Given the description of an element on the screen output the (x, y) to click on. 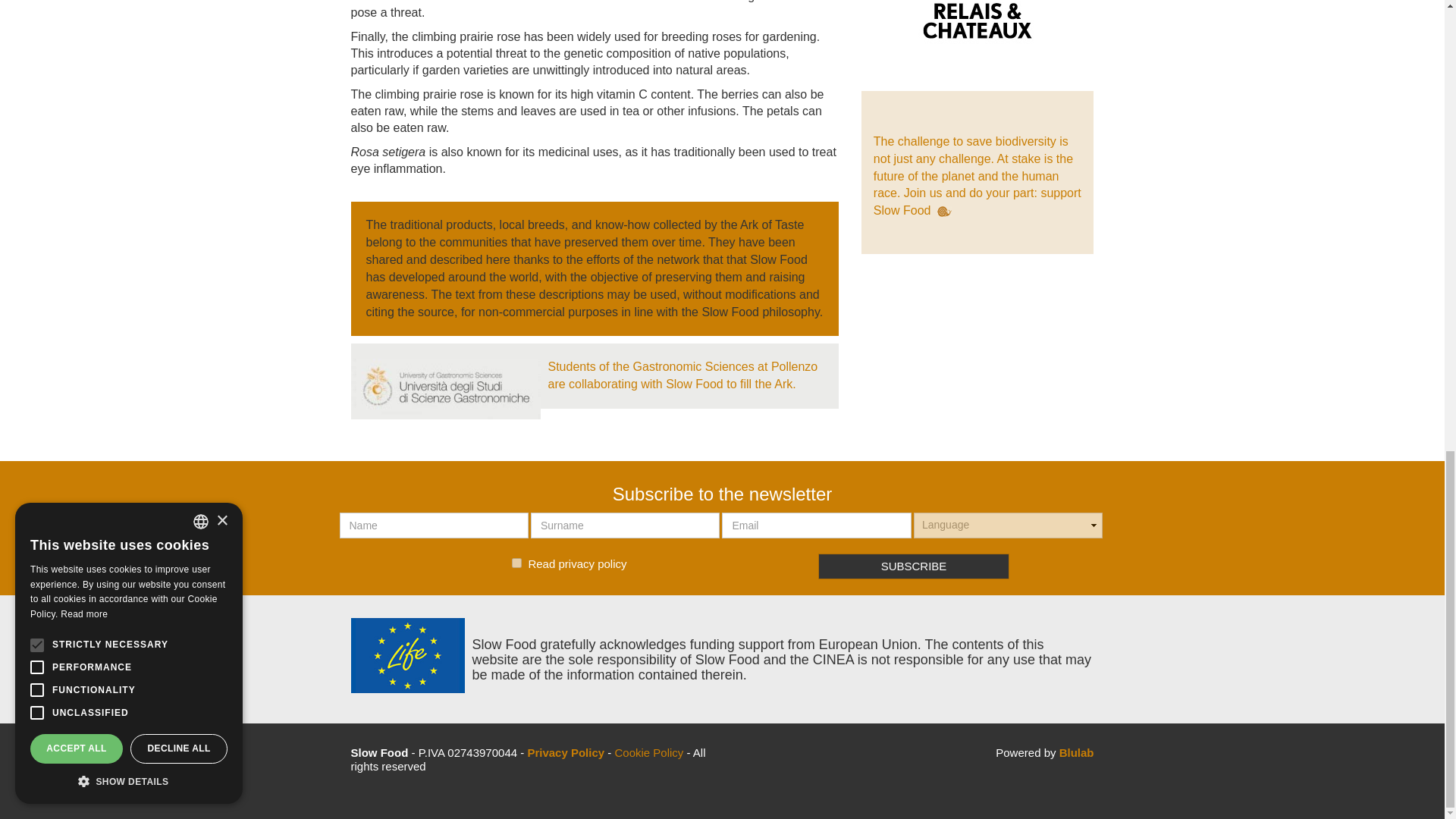
Subscribe (914, 566)
Slow Food - Web Agency (1076, 752)
